Given the description of an element on the screen output the (x, y) to click on. 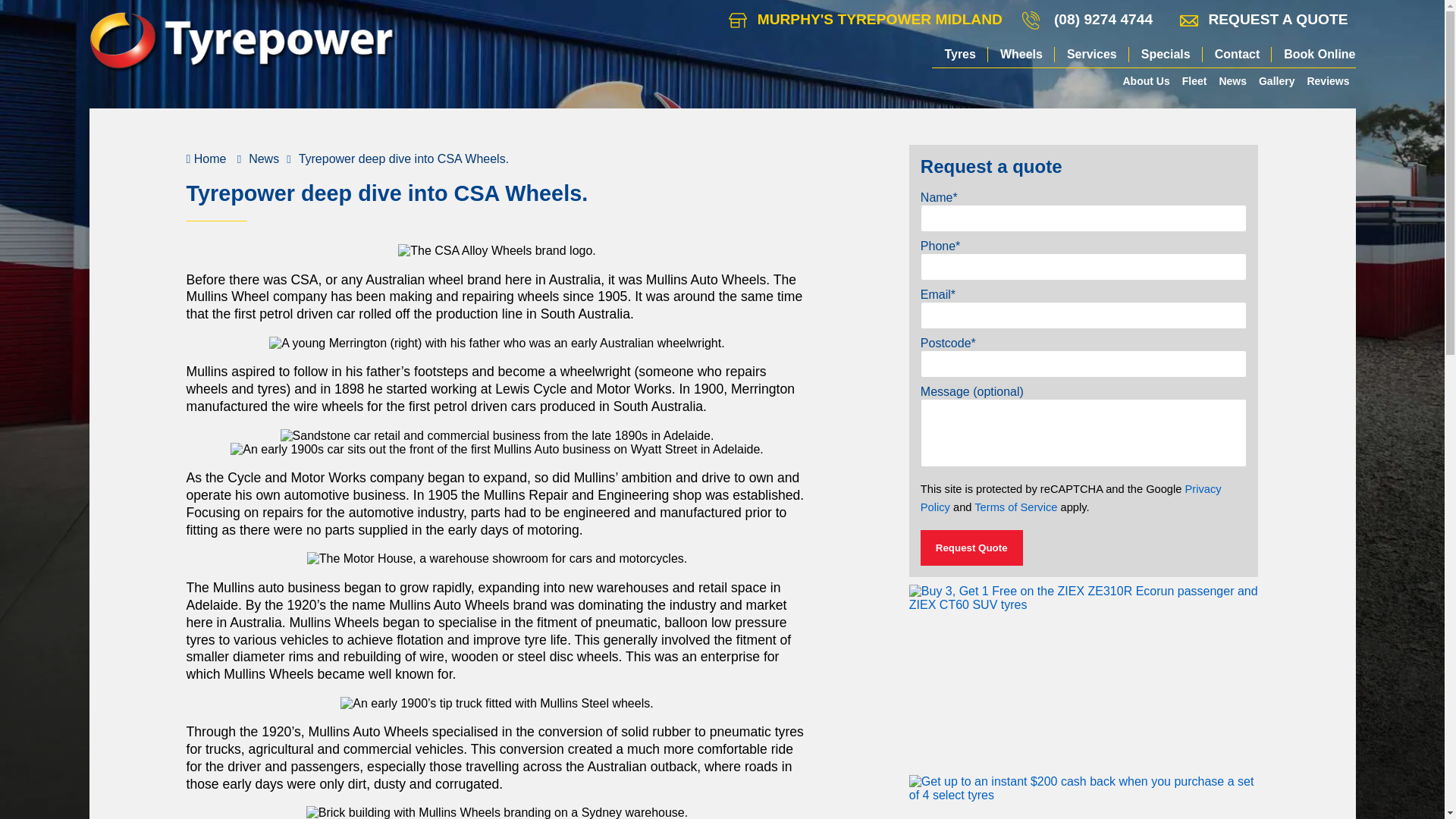
REQUEST A QUOTE (1263, 20)
Wheels (1021, 54)
Tyres (959, 54)
Services (1091, 54)
MURPHY'S TYREPOWER MIDLAND (865, 20)
Contact Murphy's Tyrepower Midland (865, 20)
Click to call now! (1103, 20)
